Given the description of an element on the screen output the (x, y) to click on. 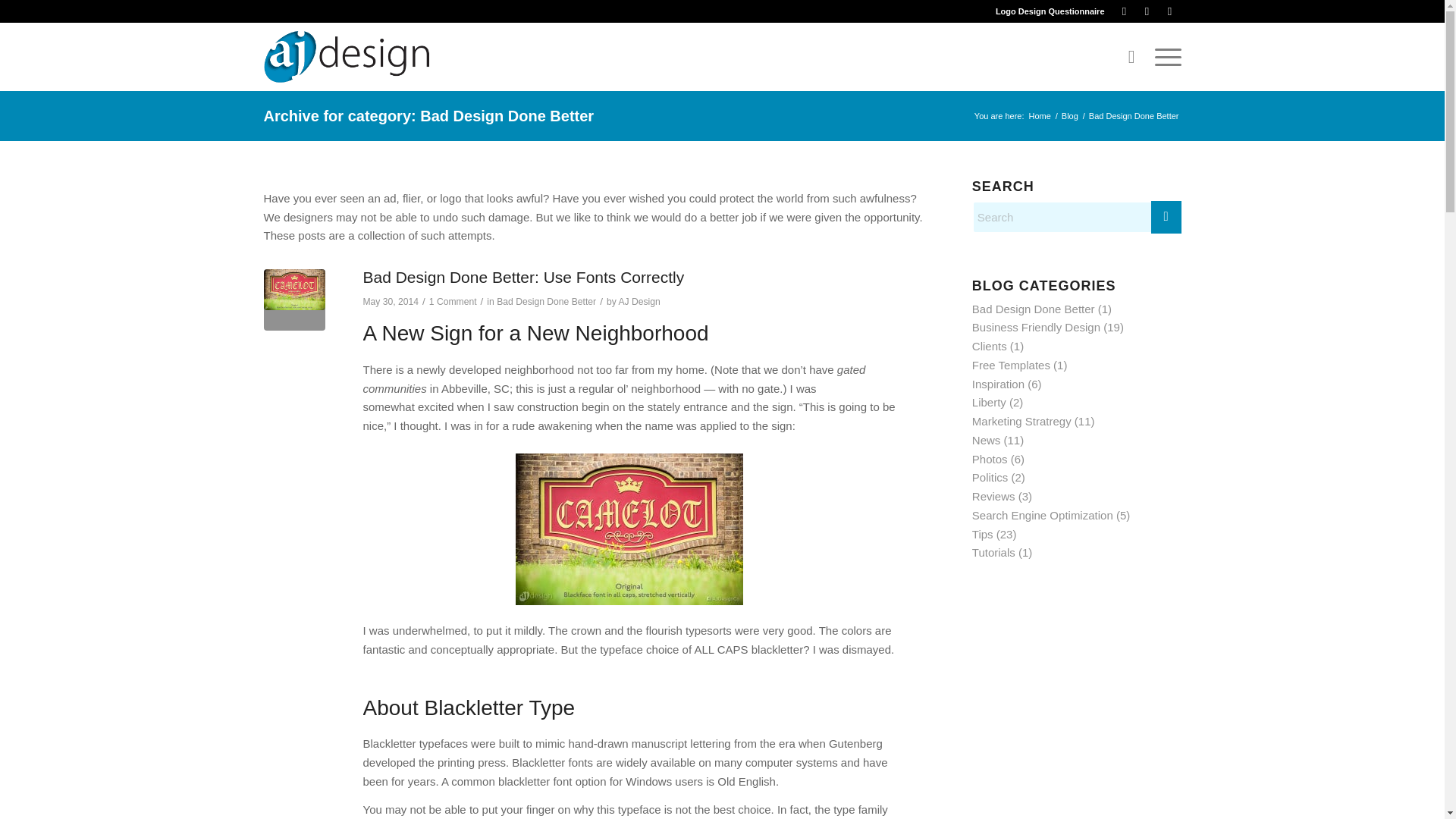
CAMELOT-01-original (293, 299)
Logo Design Questionnaire (1050, 11)
Liberty (989, 401)
X (1146, 11)
Free Templates (1010, 364)
Bad Design Done Better: Use Fonts Correctly (523, 276)
1 Comment (453, 301)
Permanent Link: Archive for category: Bad Design Done Better (428, 115)
Clients (989, 345)
Blog (1069, 116)
Blog (1069, 116)
Business Friendly Design (1036, 327)
Posts by AJ Design (638, 301)
Facebook (1124, 11)
Bad Design Done Better (1033, 308)
